Given the description of an element on the screen output the (x, y) to click on. 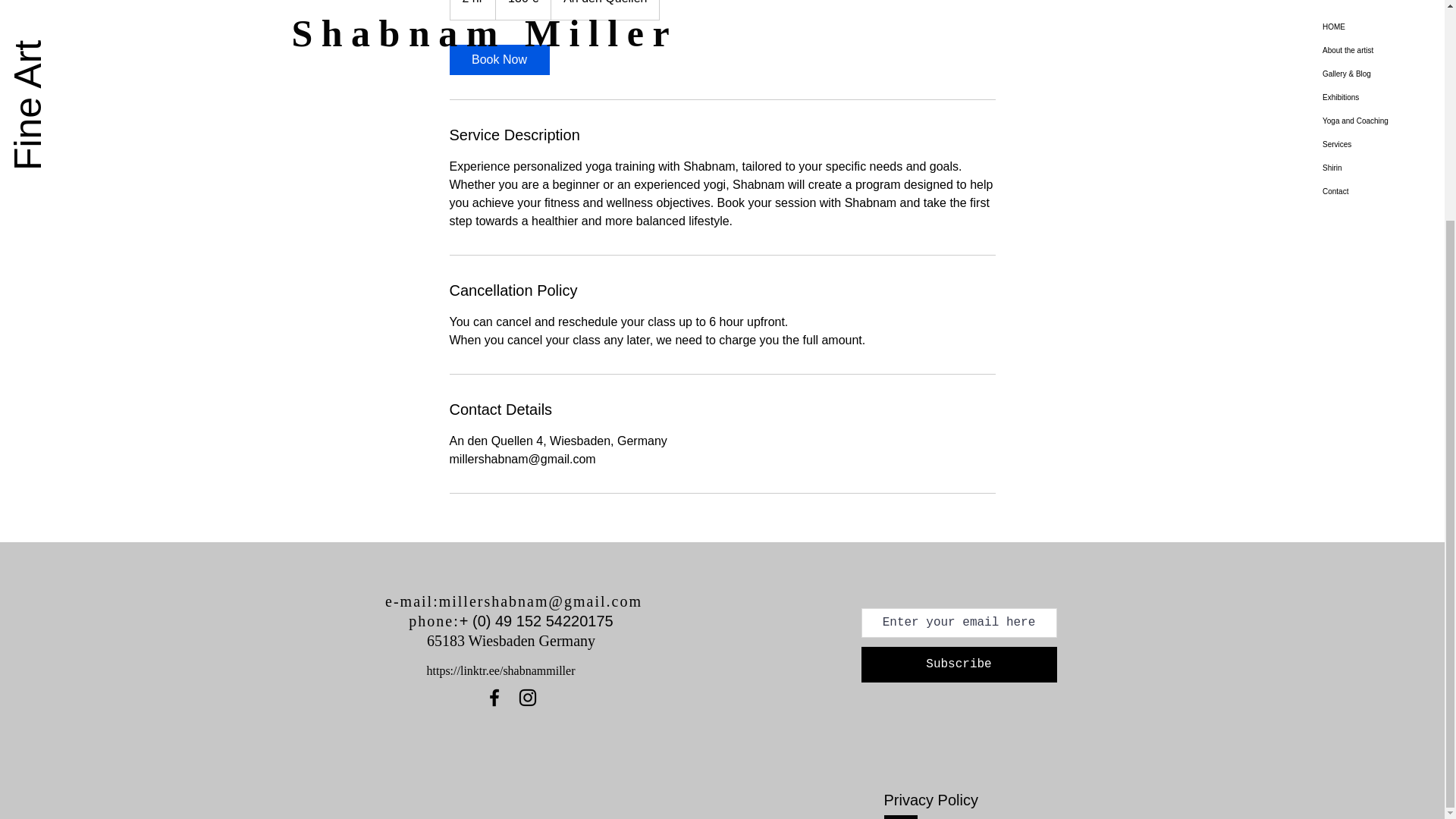
Subscribe (959, 664)
Privacy Policy (937, 799)
Book Now (498, 60)
